Given the description of an element on the screen output the (x, y) to click on. 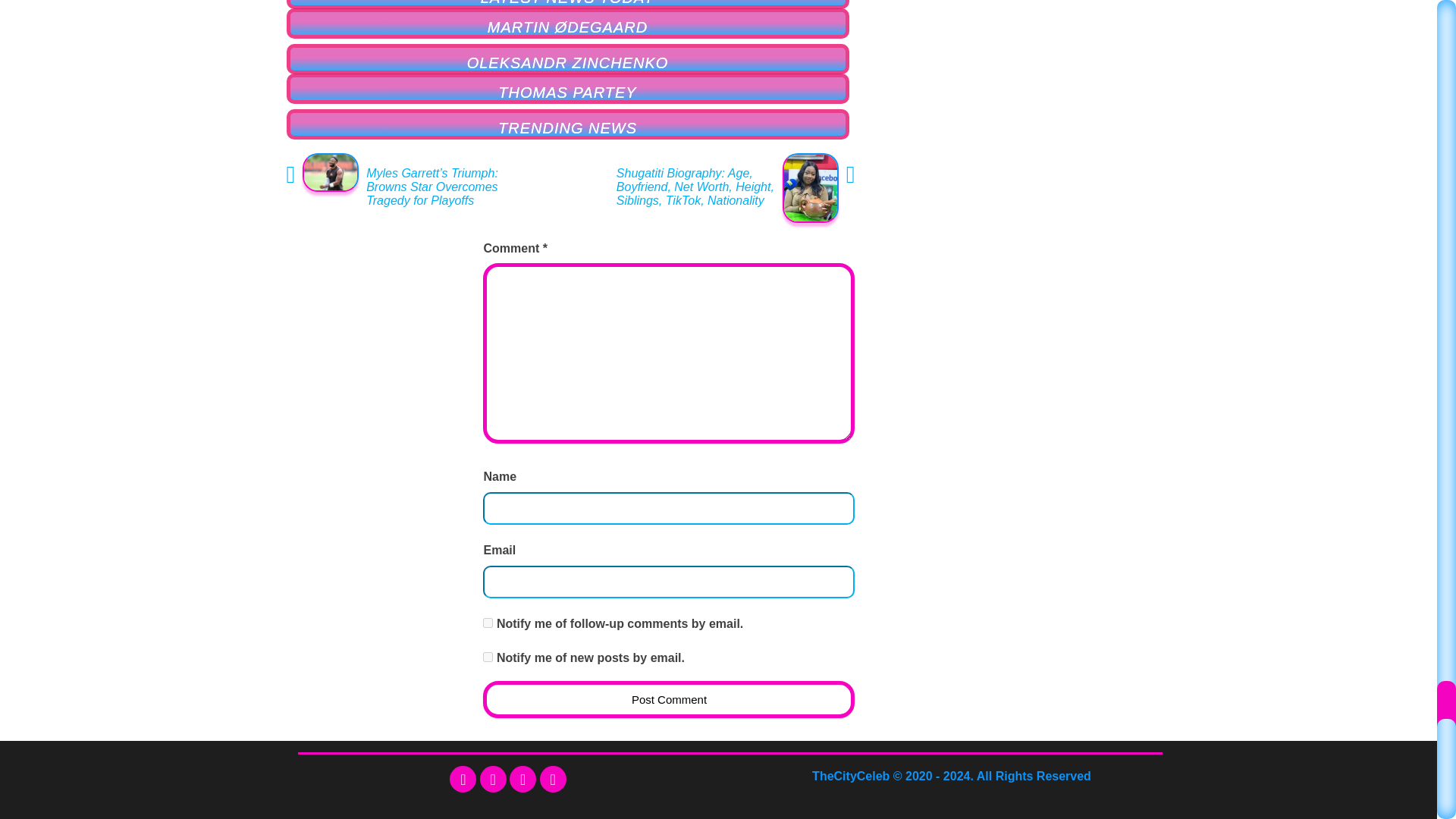
subscribe (488, 656)
Post Comment (668, 699)
subscribe (488, 623)
